Given the description of an element on the screen output the (x, y) to click on. 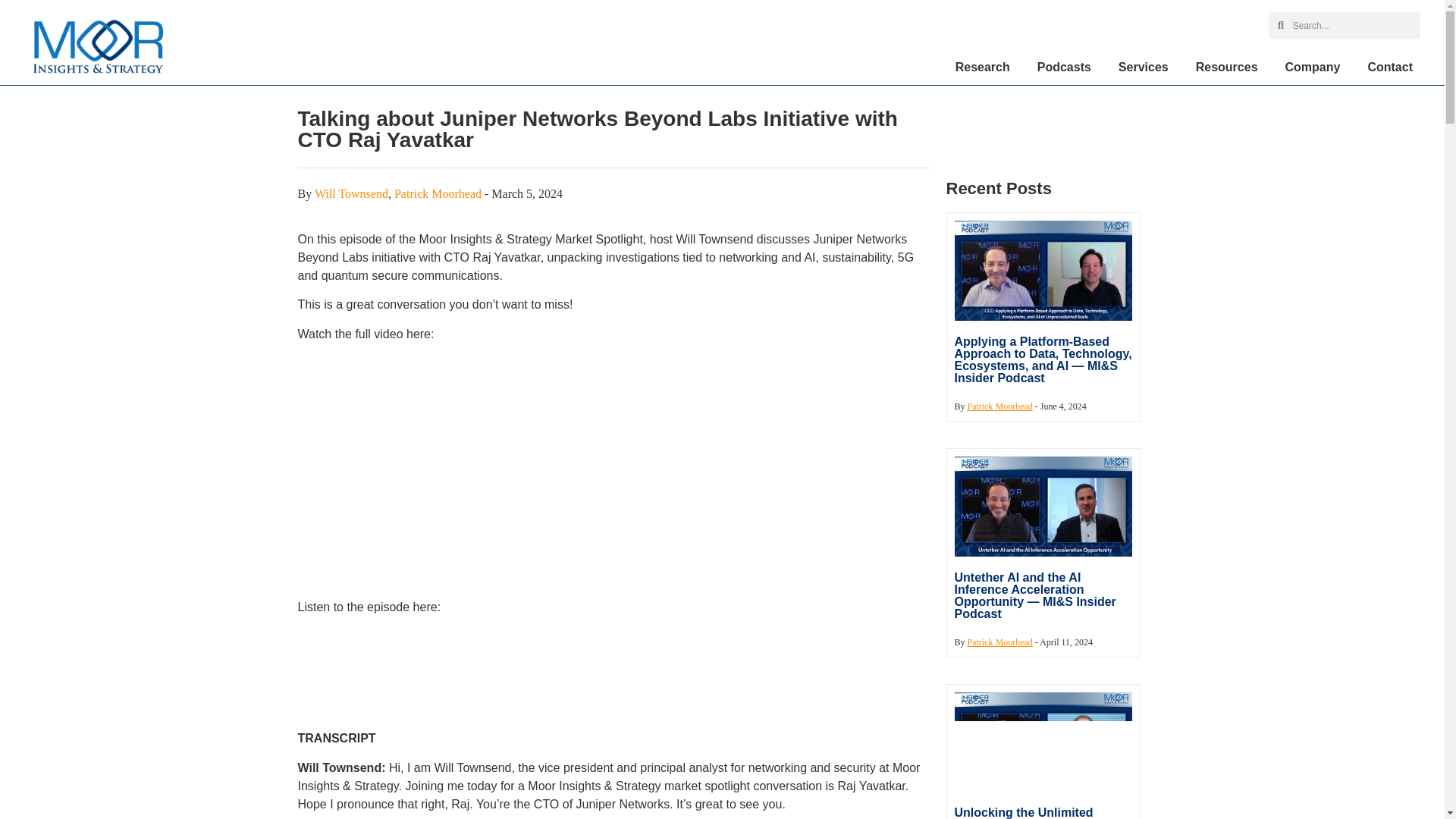
Services (1143, 67)
Podcasts (1064, 67)
Resources (1226, 67)
Contact (1390, 67)
Will Townsend (351, 193)
Embed Player (613, 664)
Patrick Moorhead (1000, 406)
Company (1313, 67)
Patrick Moorhead (437, 193)
Research (982, 67)
